Given the description of an element on the screen output the (x, y) to click on. 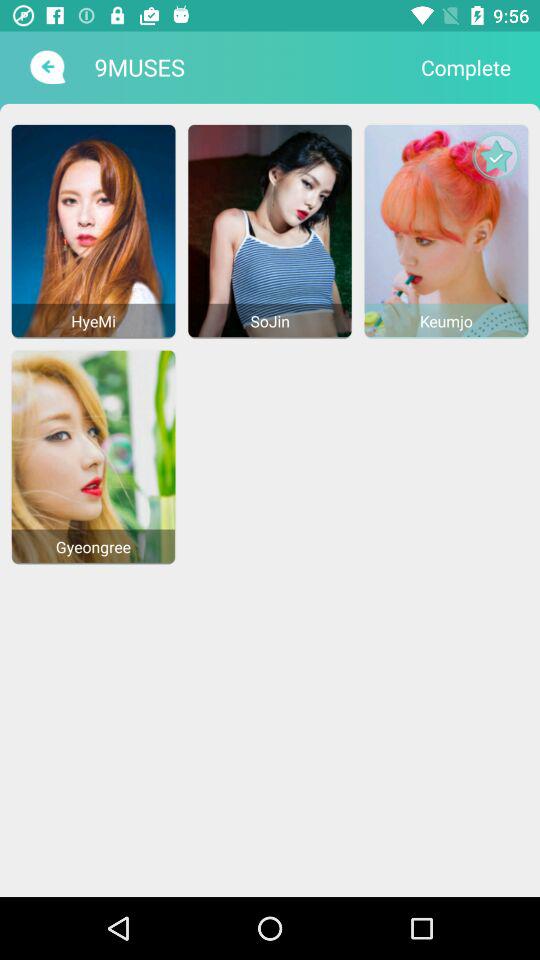
click on the tick icon on the image keumjo (496, 156)
click on hyemi image (93, 230)
click on fourth image (93, 456)
click on sojin picture (269, 230)
select the third image in the first row (445, 230)
icon left to header text at top (45, 67)
